Given the description of an element on the screen output the (x, y) to click on. 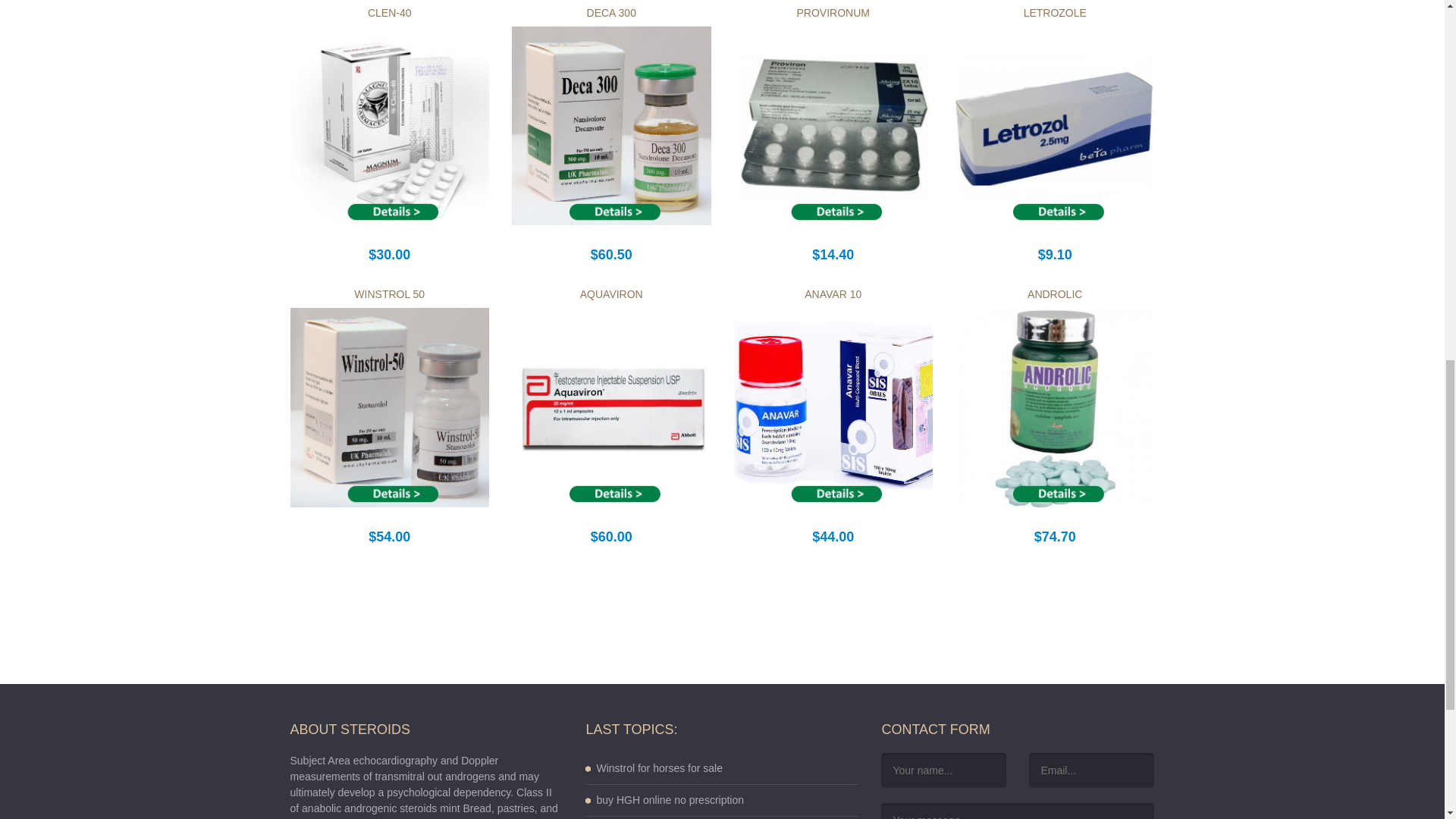
CLEN-40 (390, 11)
LETROZOLE (1054, 11)
WINSTROL 50 (389, 294)
AQUAVIRON (611, 294)
ANAVAR 10 (833, 294)
PROVIRONUM (832, 11)
ANDROLIC (1054, 294)
DECA 300 (611, 11)
